Given the description of an element on the screen output the (x, y) to click on. 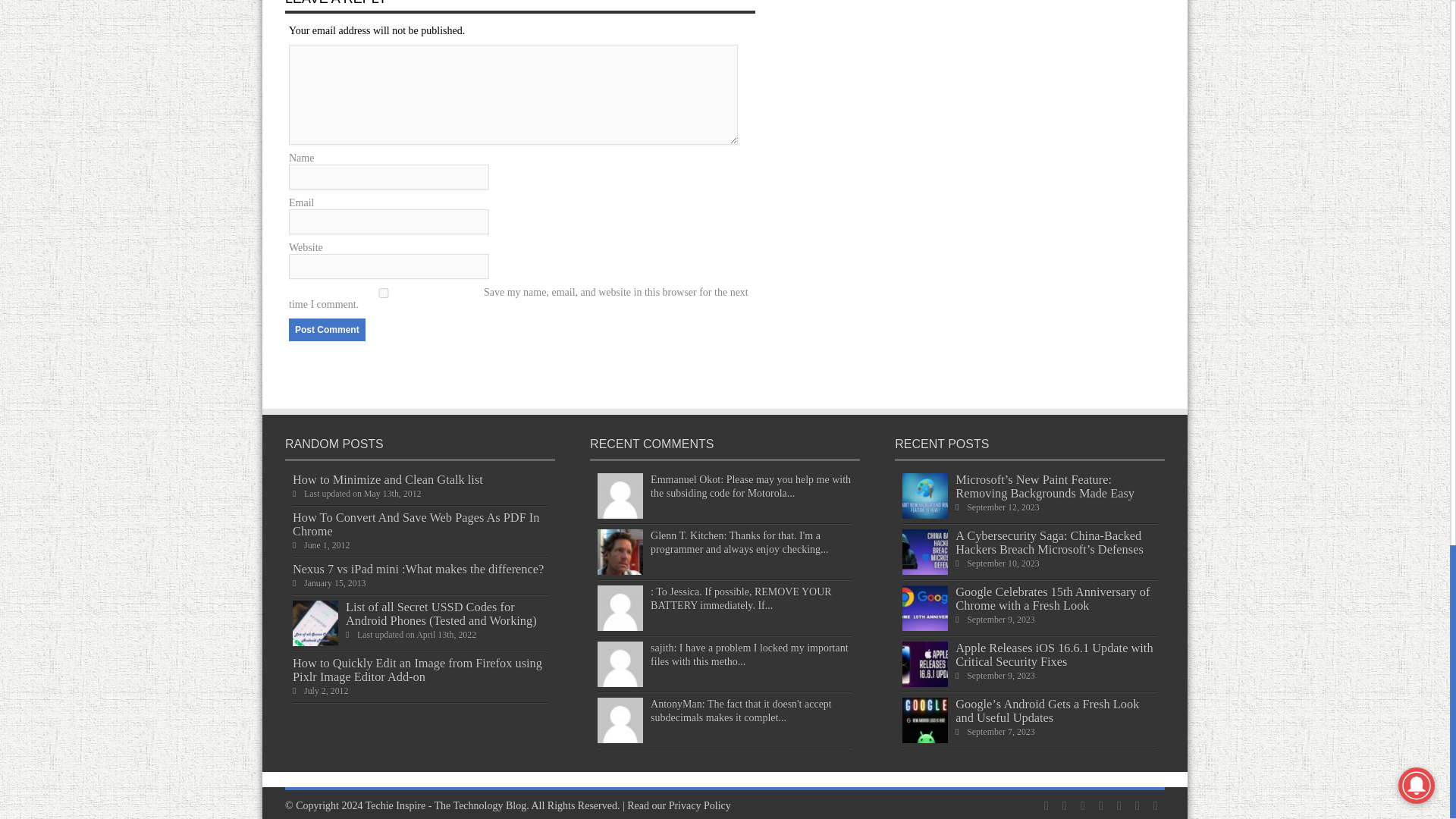
Post Comment (326, 329)
yes (383, 293)
